Given the description of an element on the screen output the (x, y) to click on. 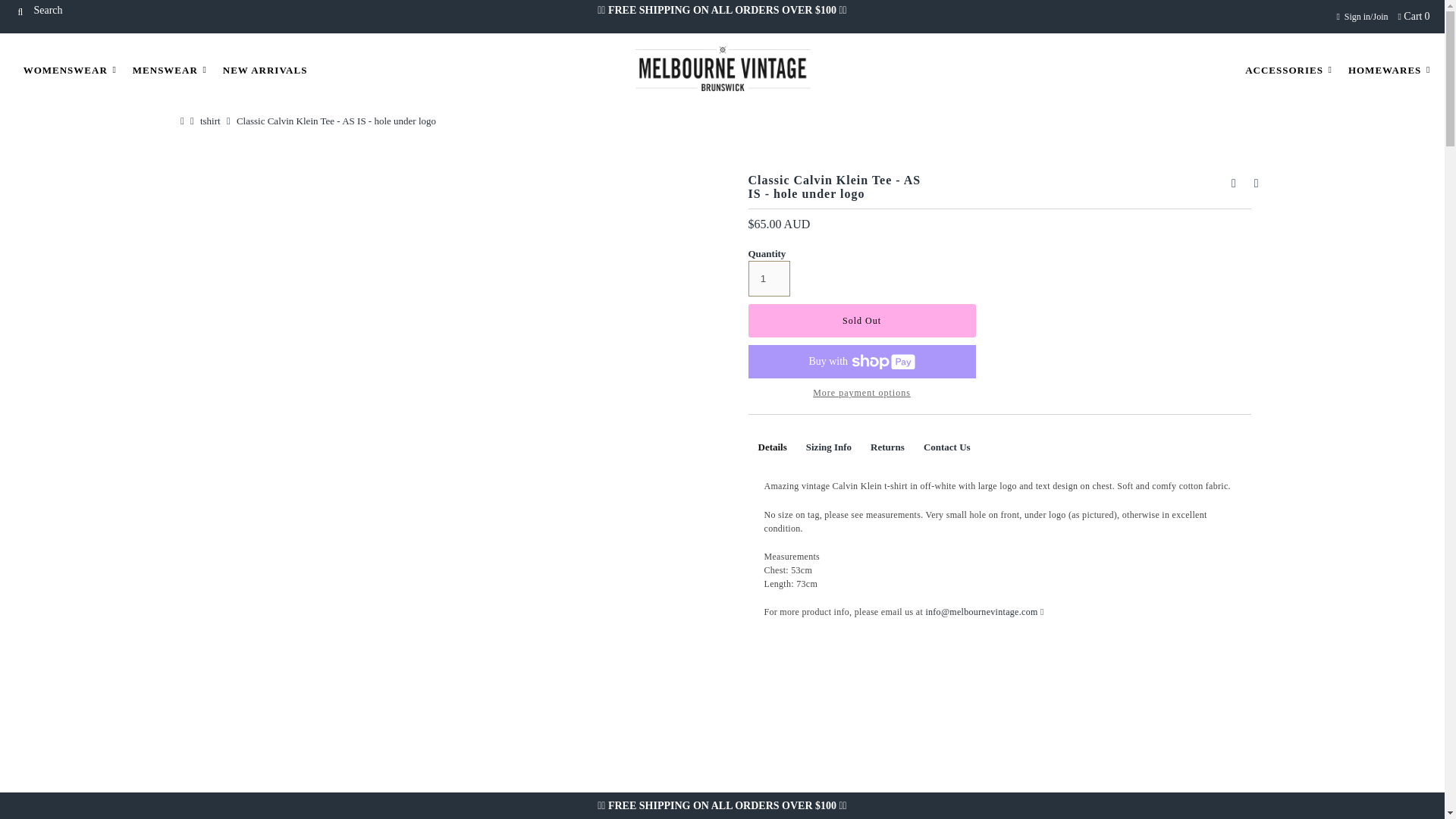
tshirt (212, 120)
1 (768, 278)
Sold Out (861, 320)
